Given the description of an element on the screen output the (x, y) to click on. 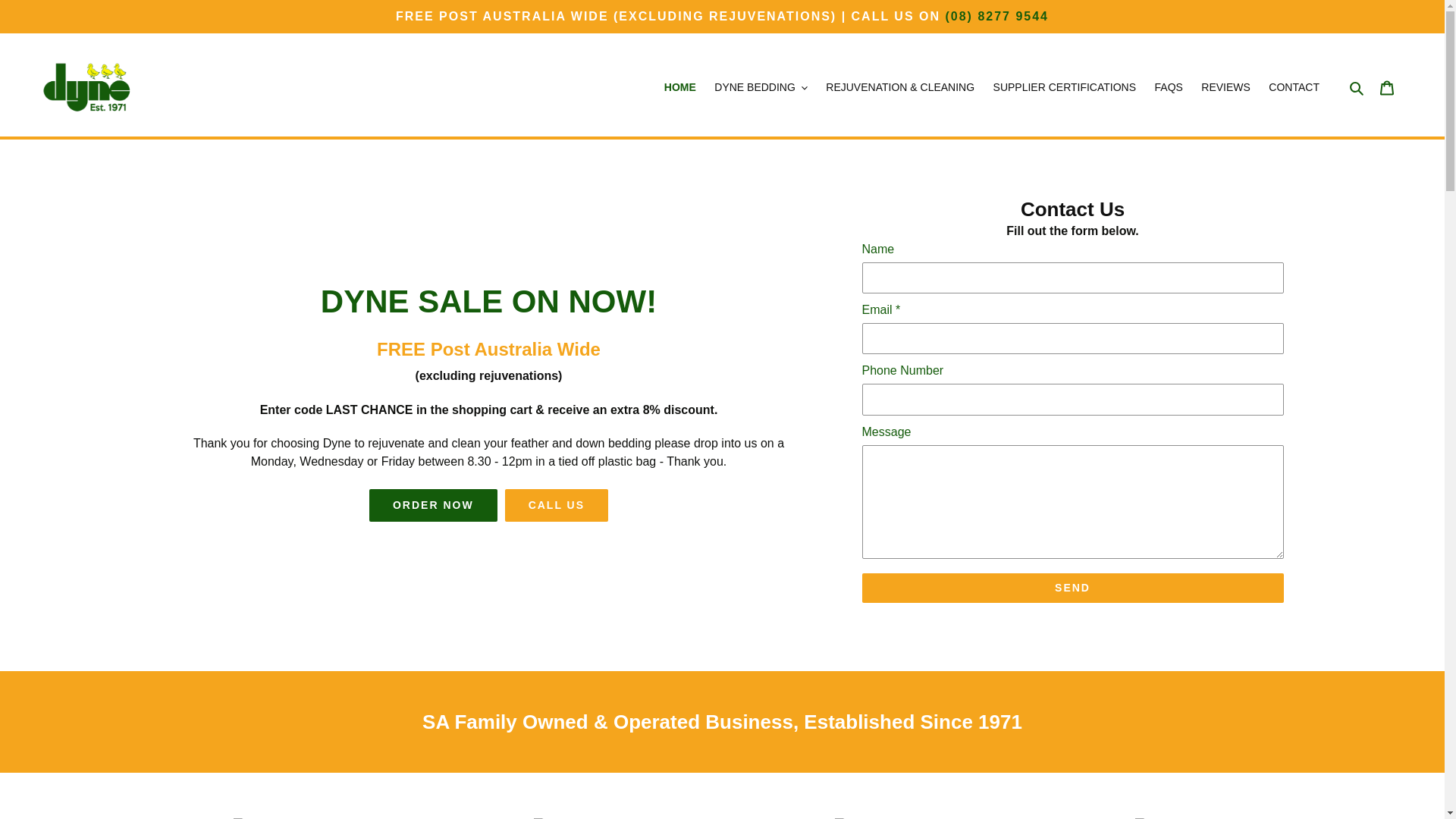
Cart (1387, 87)
FAQS (1169, 86)
DYNE BEDDING (760, 87)
Send (1071, 587)
CONTACT (1293, 86)
Search (1357, 86)
HOME (679, 86)
SUPPLIER CERTIFICATIONS (1064, 86)
REVIEWS (1225, 86)
